Given the description of an element on the screen output the (x, y) to click on. 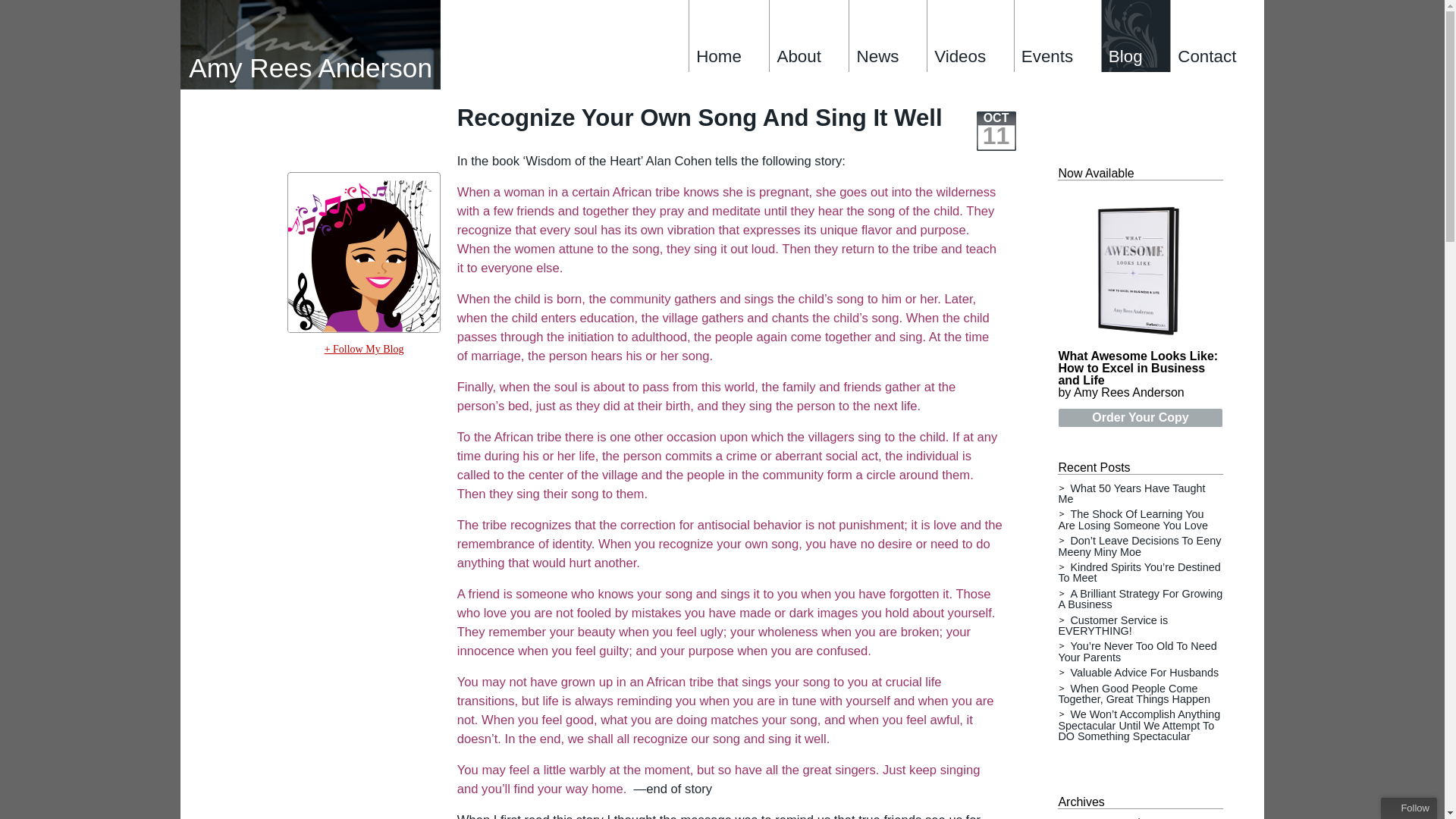
Recognize Your Own Song And Sing It Well (699, 117)
Blog (1135, 36)
Videos (969, 36)
Recognize Your Own Song And Sing It Well (699, 117)
What 50 Years Have Taught Me (1131, 493)
When Good People Come Together, Great Things Happen (1133, 693)
The Shock Of Learning You Are Losing Someone You Love (1133, 518)
Customer Service is EVERYTHING! (1112, 625)
Valuable Advice For Husbands (1144, 672)
Contact (1216, 36)
Home (728, 36)
A Brilliant Strategy For Growing A Business (1140, 599)
About (808, 36)
Events (1056, 36)
News (887, 36)
